Given the description of an element on the screen output the (x, y) to click on. 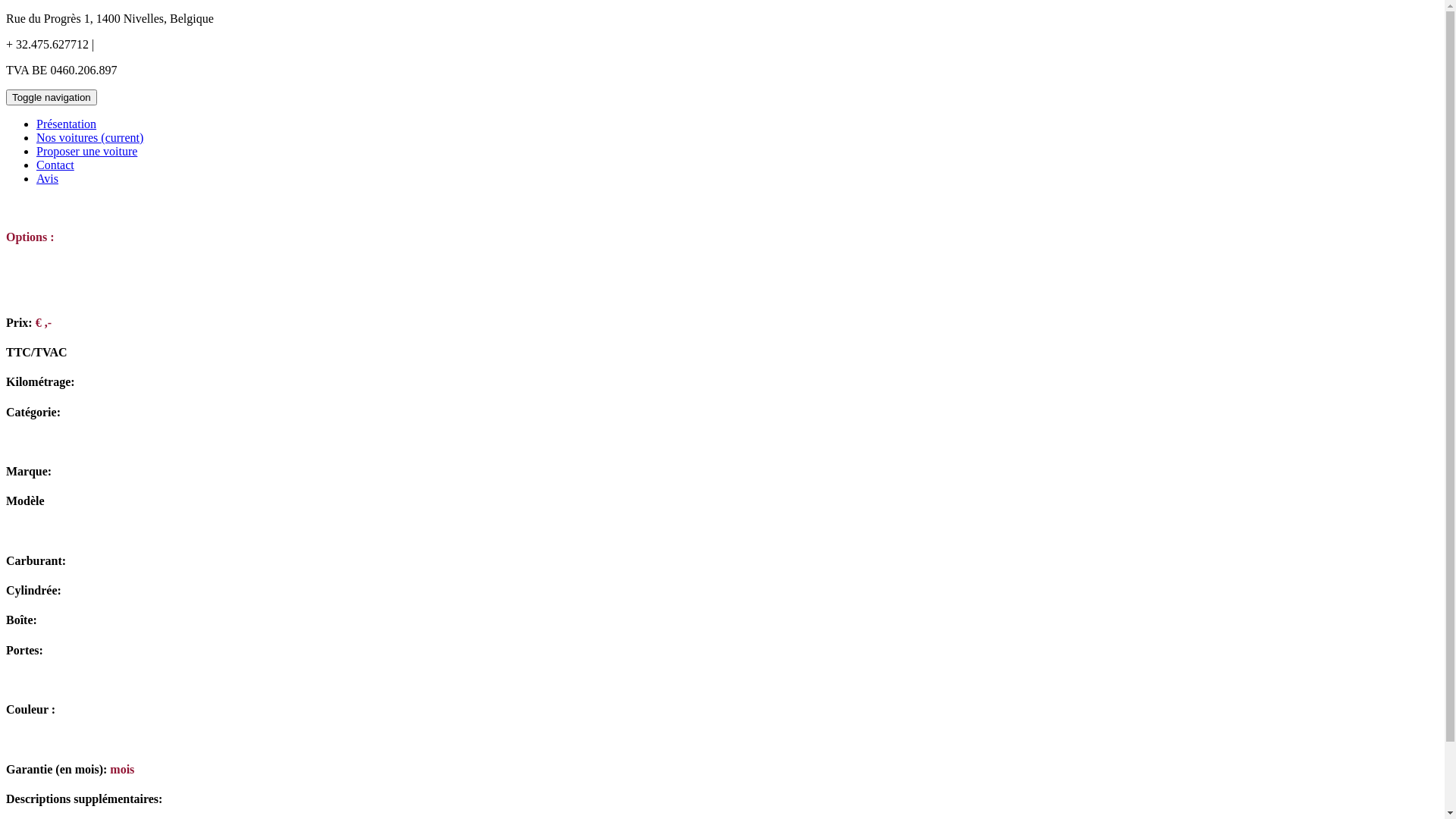
Avis Element type: text (47, 178)
Nos voitures (current) Element type: text (89, 137)
Contact Element type: text (55, 164)
Toggle navigation Element type: text (51, 97)
Proposer une voiture Element type: text (86, 150)
